Given the description of an element on the screen output the (x, y) to click on. 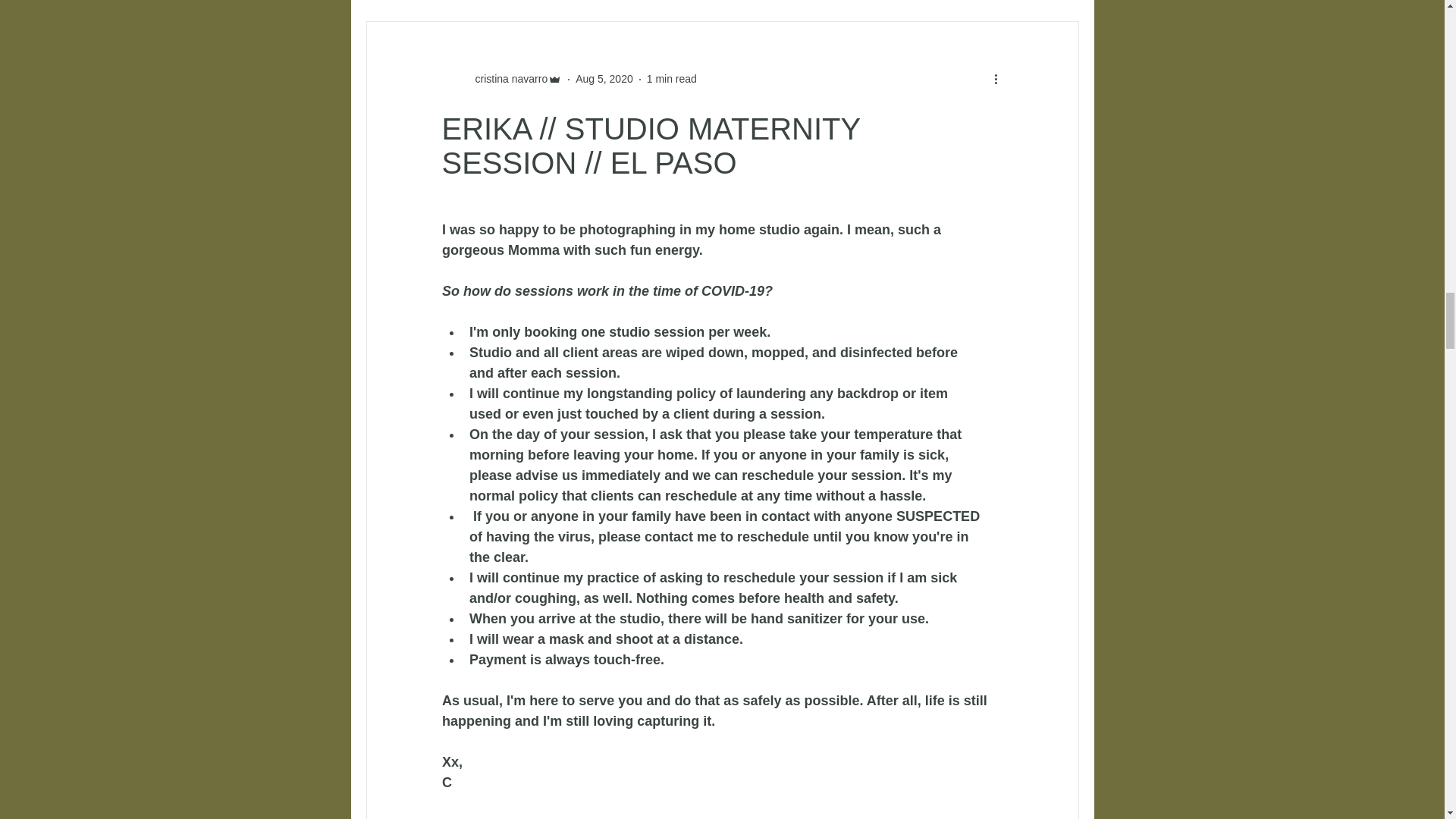
cristina navarro (506, 78)
Aug 5, 2020 (604, 78)
cristina navarro (501, 79)
1 min read (671, 78)
